Given the description of an element on the screen output the (x, y) to click on. 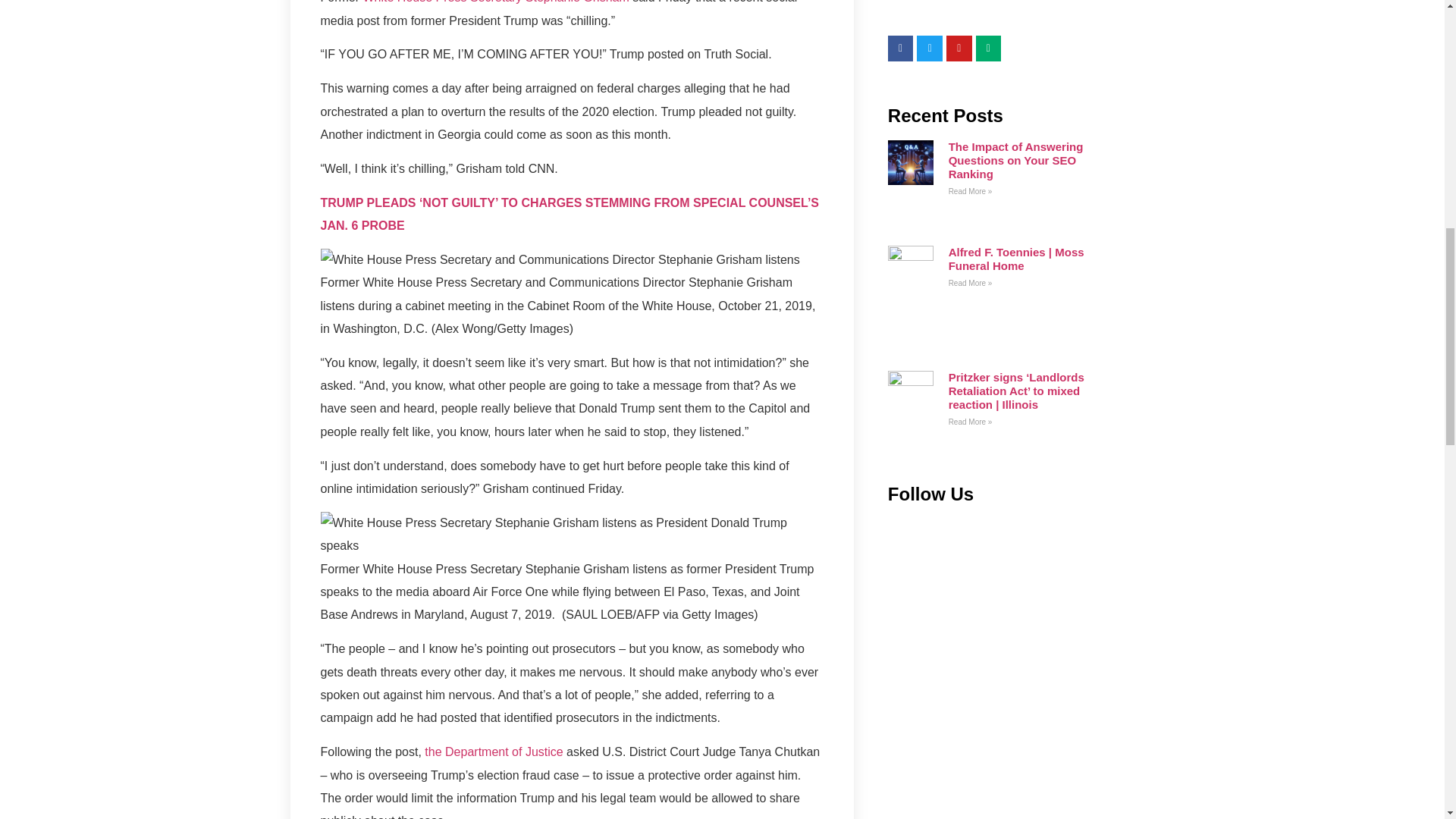
the Department of Justice (493, 751)
The Impact of Answering Questions on Your SEO Ranking (1016, 160)
White House Press Secretary Stephanie Grisham (495, 2)
